Given the description of an element on the screen output the (x, y) to click on. 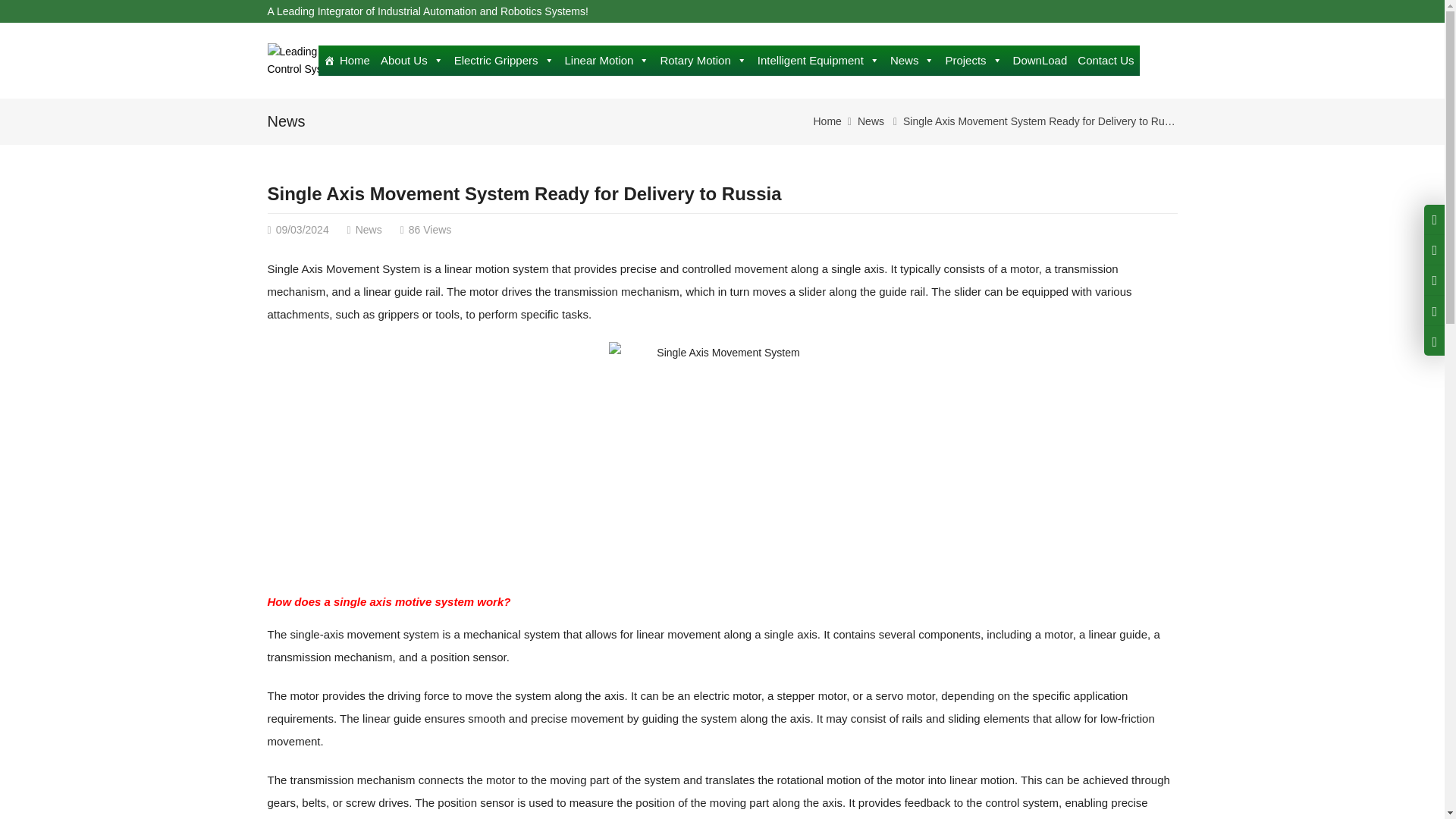
Home (346, 60)
About Us (411, 60)
Electric Grippers (503, 60)
